Given the description of an element on the screen output the (x, y) to click on. 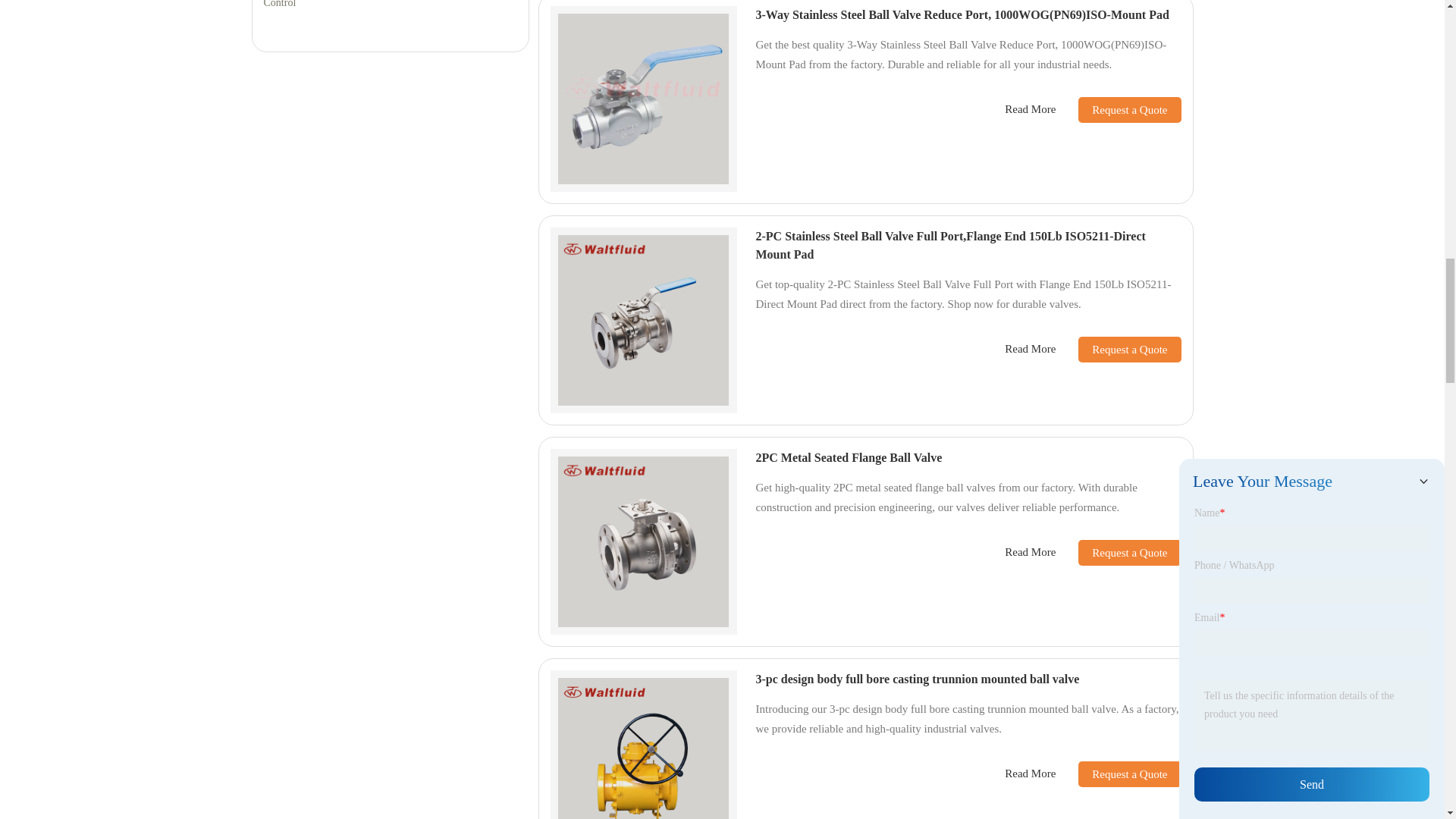
Durable 3 Way Plastic Ball Valve for Effective Flow Control (389, 6)
